Given the description of an element on the screen output the (x, y) to click on. 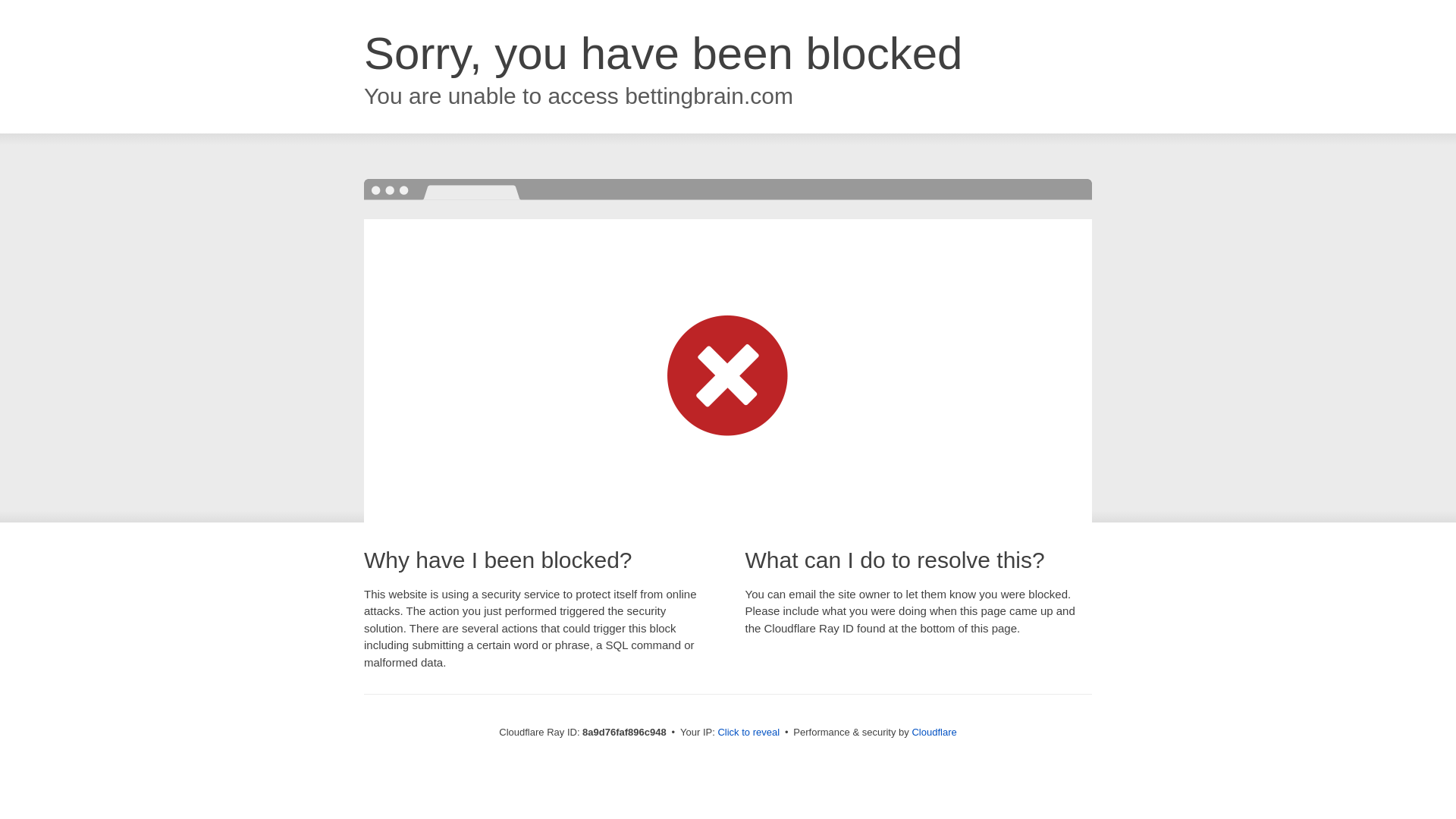
Cloudflare (933, 731)
Click to reveal (747, 732)
